Given the description of an element on the screen output the (x, y) to click on. 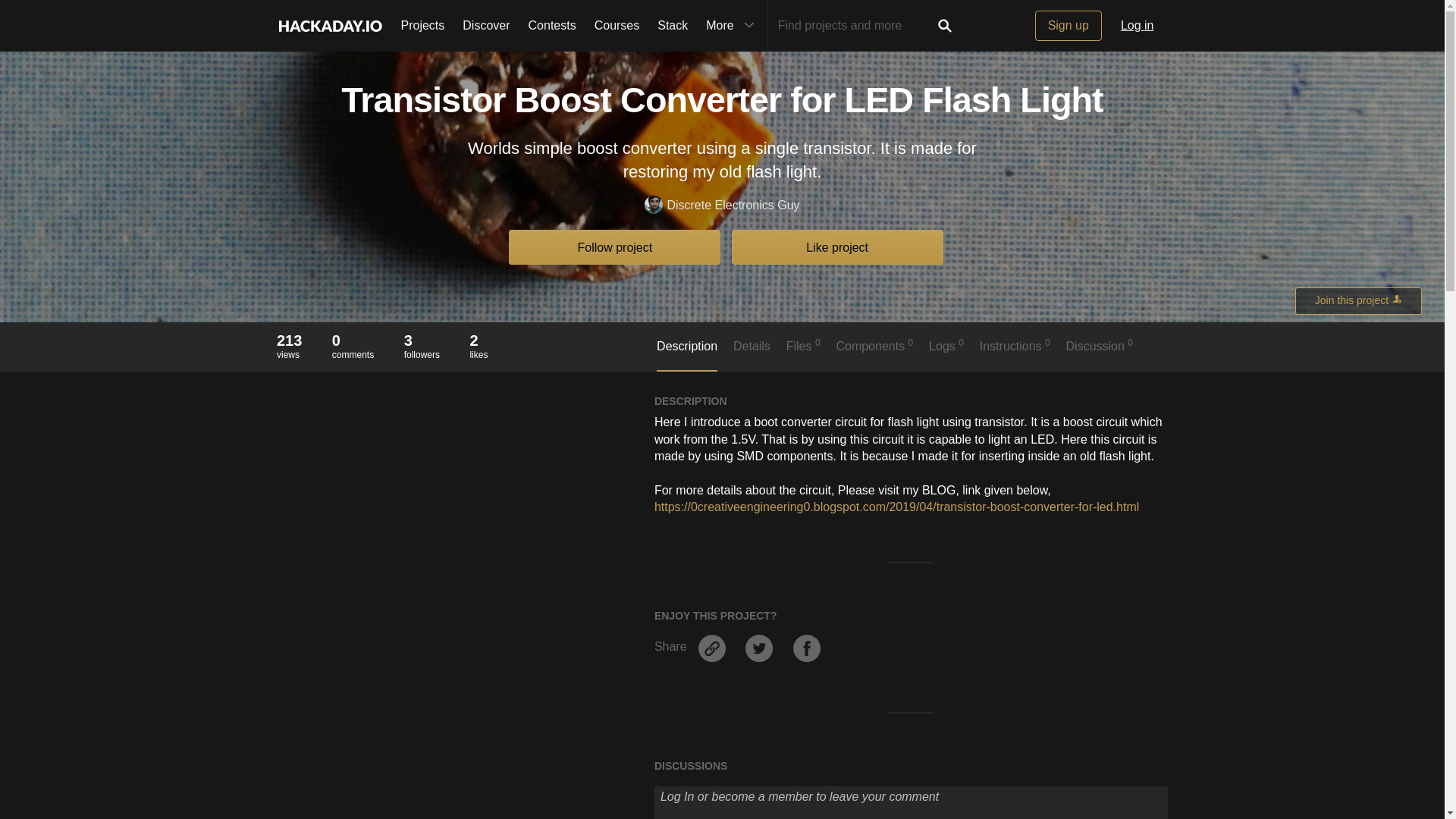
Description (686, 354)
Discrete Electronics Guy (722, 205)
Courses (617, 25)
Comments (352, 340)
Followers (421, 340)
Two characters minimum (853, 25)
Sign up (1068, 25)
Log in (1137, 25)
Hackaday.io (329, 25)
Join this project (1358, 300)
